Given the description of an element on the screen output the (x, y) to click on. 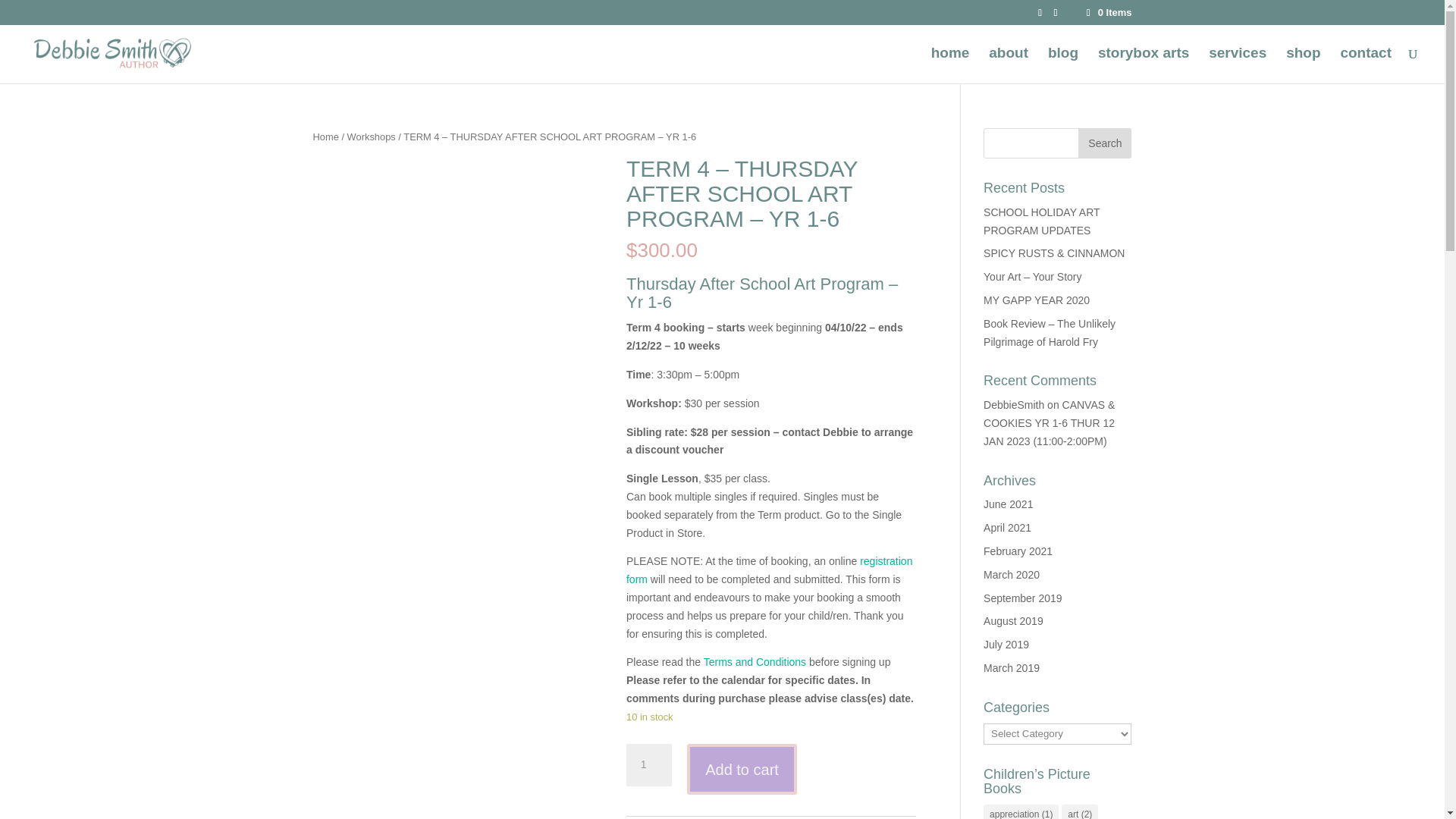
Workshops (371, 136)
storybox arts (1143, 65)
Add to cart (741, 768)
services (1237, 65)
registration form (769, 570)
Search (1104, 142)
shop (1302, 65)
Terms and Conditions (754, 662)
Search (1104, 142)
Home (325, 136)
